Given the description of an element on the screen output the (x, y) to click on. 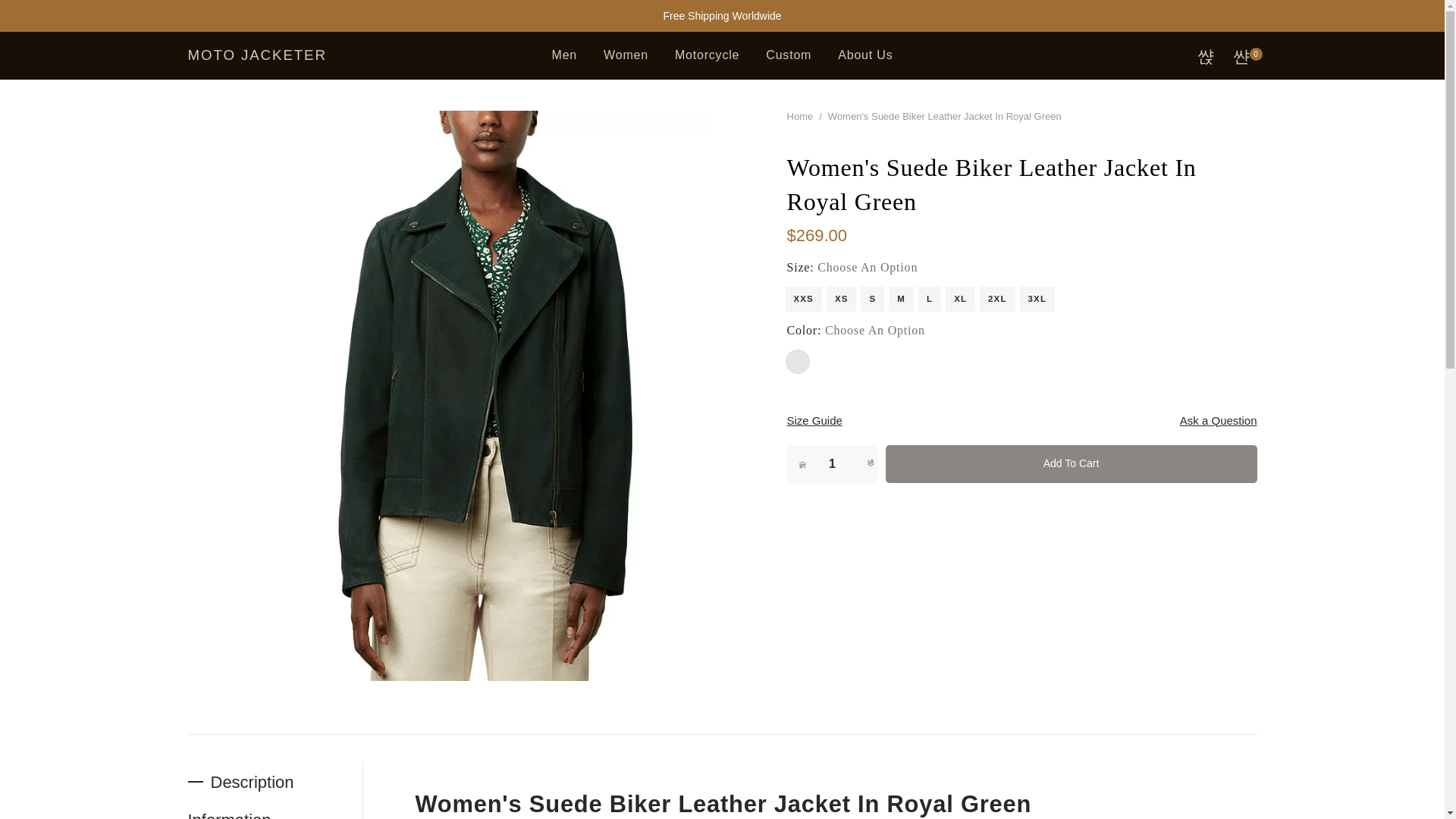
Ask a Question (1218, 420)
Motorcycle (706, 54)
Add To Cart (1071, 463)
Home (800, 116)
MOTO JACKETER (256, 55)
Size Guide (815, 420)
Custom (788, 54)
Women's Suede Biker Leather Jacket In Royal Green (723, 804)
Description (274, 782)
Men (564, 54)
